Given the description of an element on the screen output the (x, y) to click on. 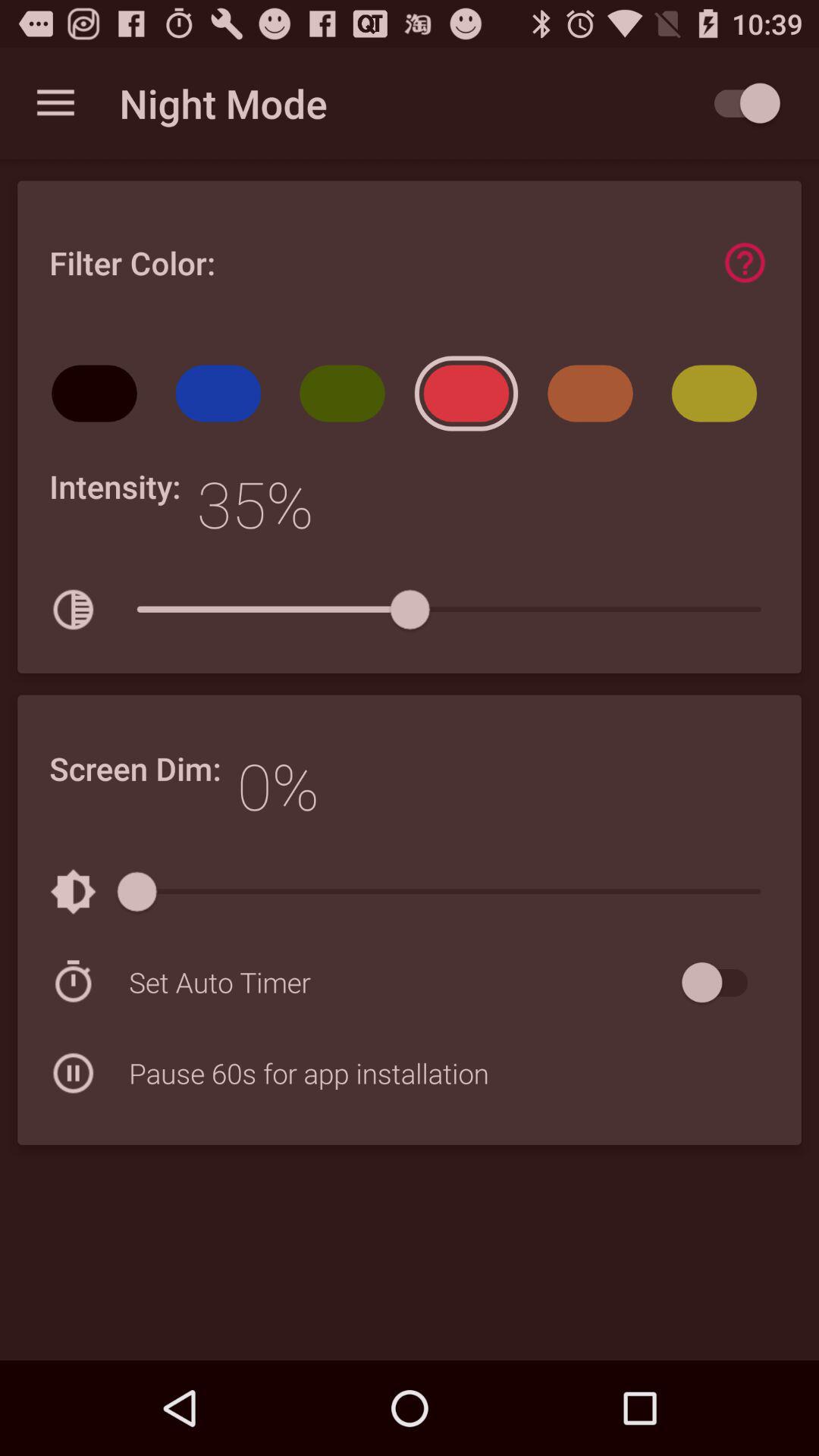
choose faqs (744, 262)
